Given the description of an element on the screen output the (x, y) to click on. 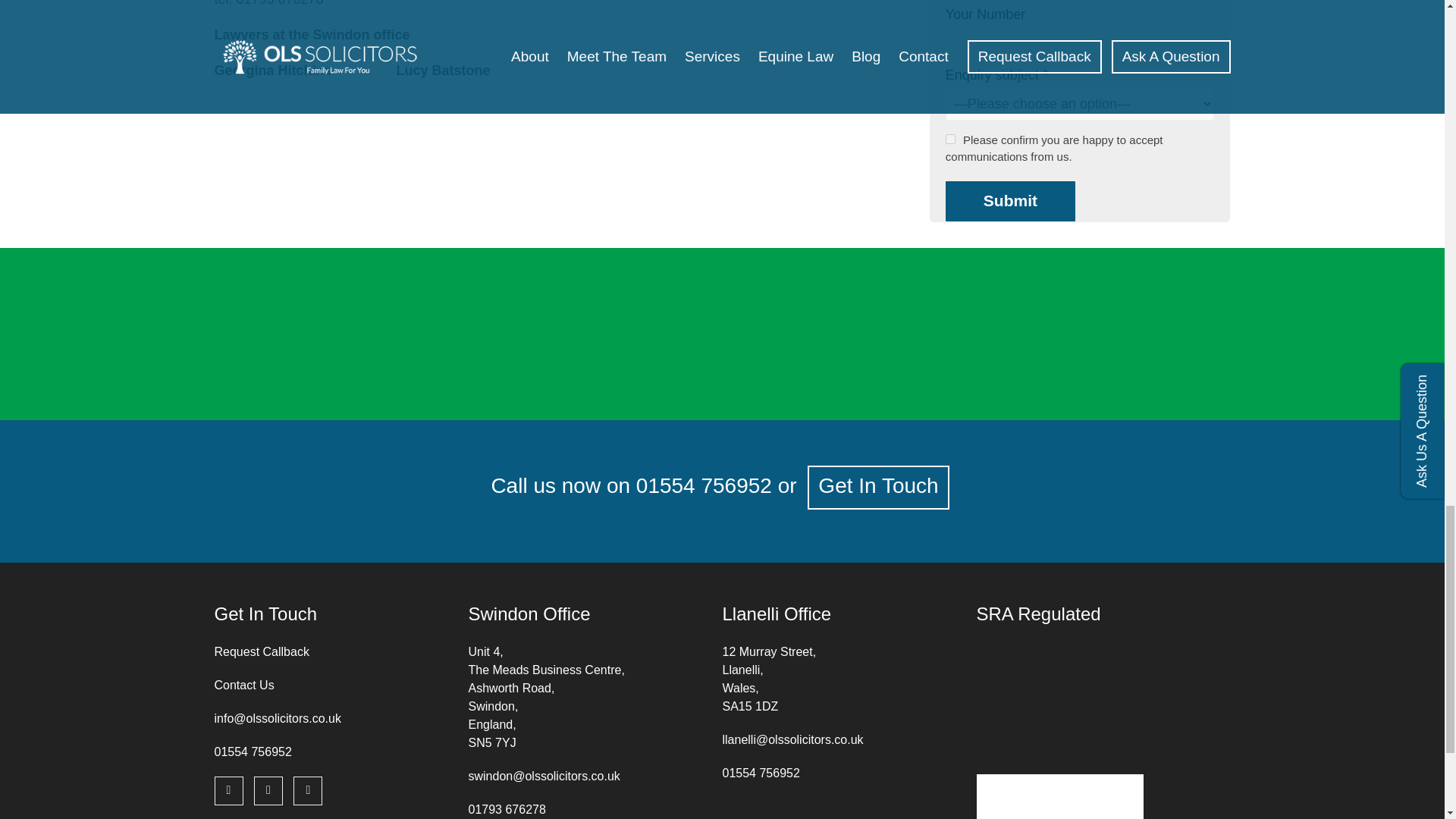
01554 756952 (703, 485)
01554 756952 (252, 751)
Contact Us (243, 684)
01554 756952 (760, 772)
Request Callback (261, 651)
ReviewSolicitors (537, 312)
01793 676278 (507, 809)
Get In Touch (878, 487)
